Given the description of an element on the screen output the (x, y) to click on. 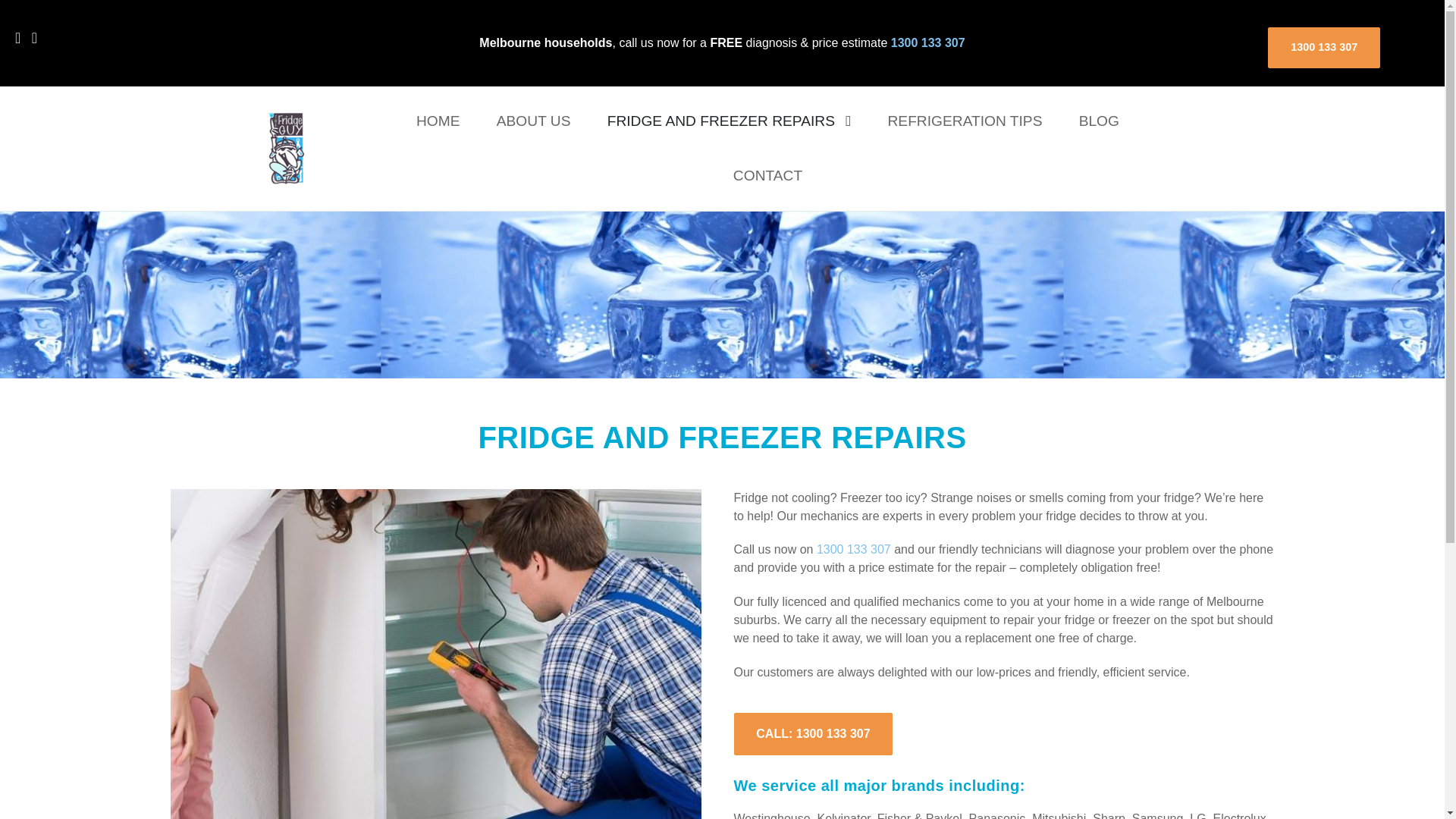
FRIDGE AND FREEZER REPAIRS (729, 121)
Refrigeration Tips (964, 121)
BLOG (1099, 121)
REFRIGERATION TIPS (964, 121)
Contact (768, 175)
Home (437, 121)
About Us (534, 121)
ABOUT US (534, 121)
CONTACT (768, 175)
1300 133 307 (928, 42)
Blog (1099, 121)
1300 133 307 (853, 549)
HOME (437, 121)
CALL: 1300 133 307 (812, 734)
Fridge And Freezer Repairs (729, 121)
